Given the description of an element on the screen output the (x, y) to click on. 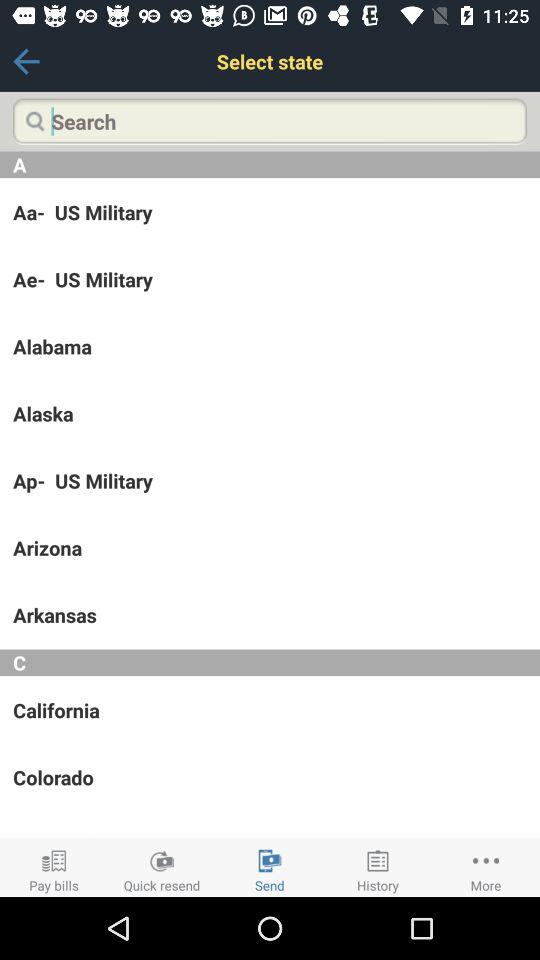
launch the icon above the colorado icon (270, 710)
